Given the description of an element on the screen output the (x, y) to click on. 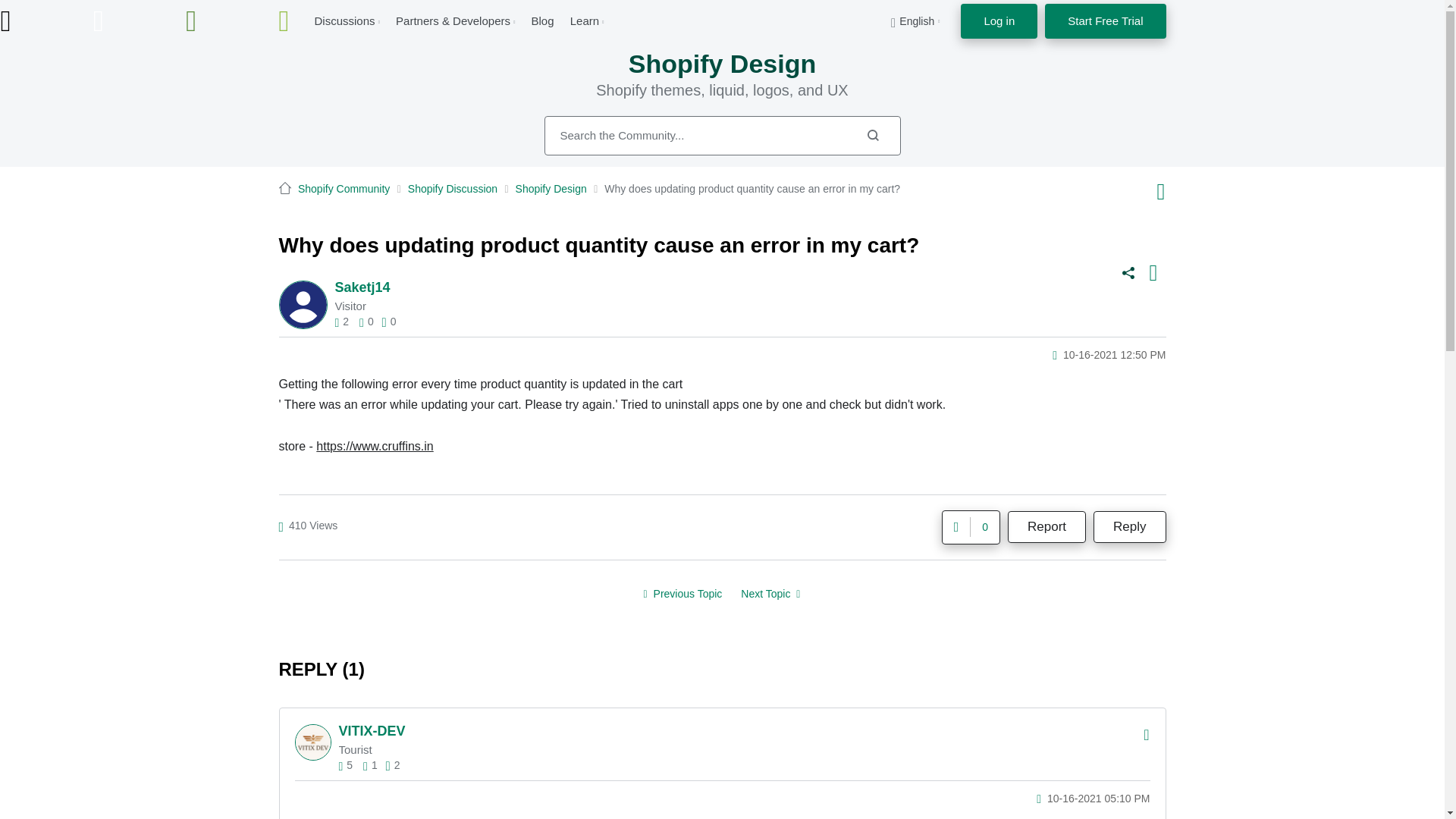
Search (872, 135)
Discussions (344, 20)
Search (872, 135)
Search (722, 135)
